Given the description of an element on the screen output the (x, y) to click on. 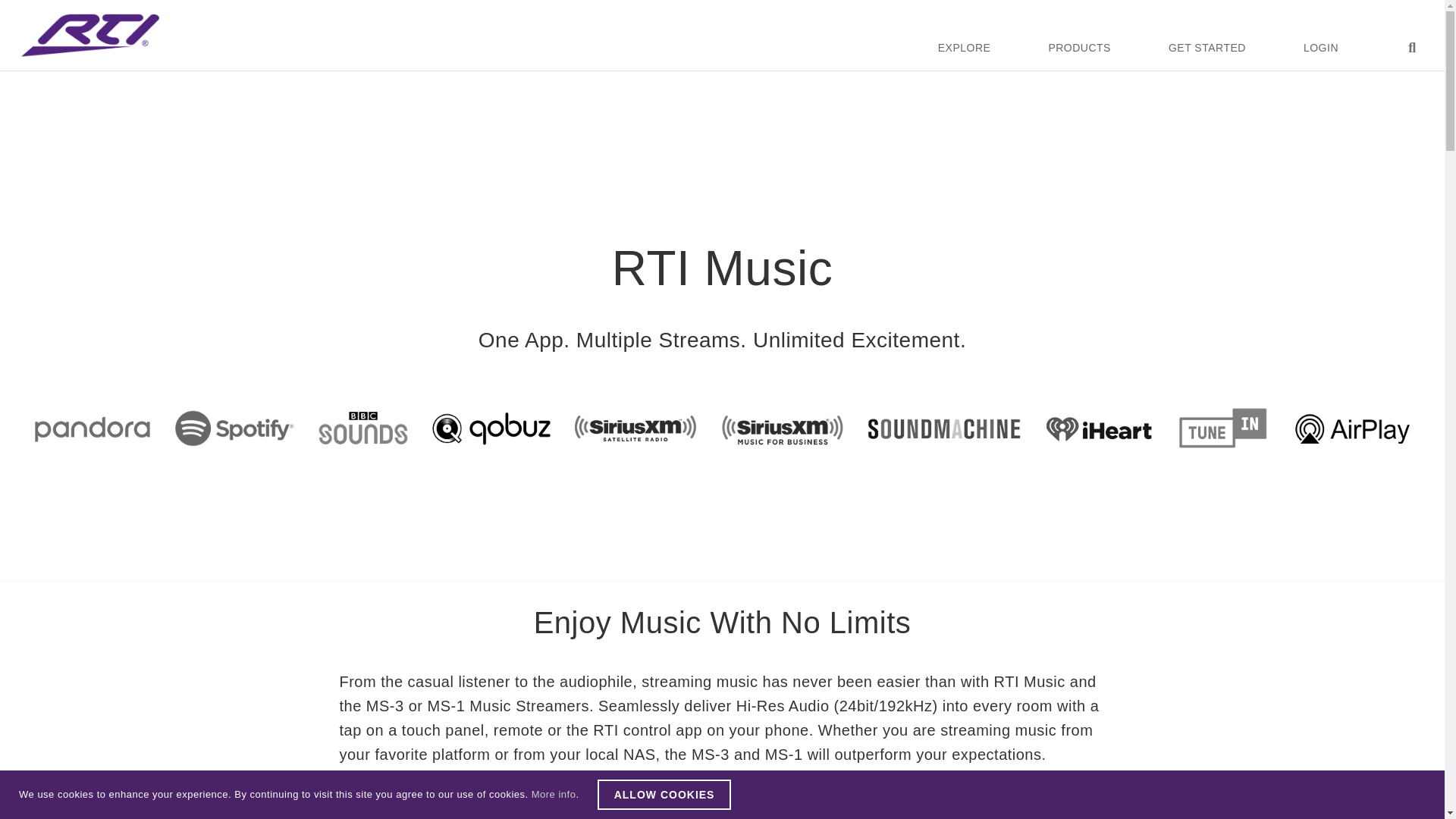
LOGIN (1320, 47)
ALLOW COOKIES (664, 794)
RTI (90, 35)
More info (553, 794)
